Given the description of an element on the screen output the (x, y) to click on. 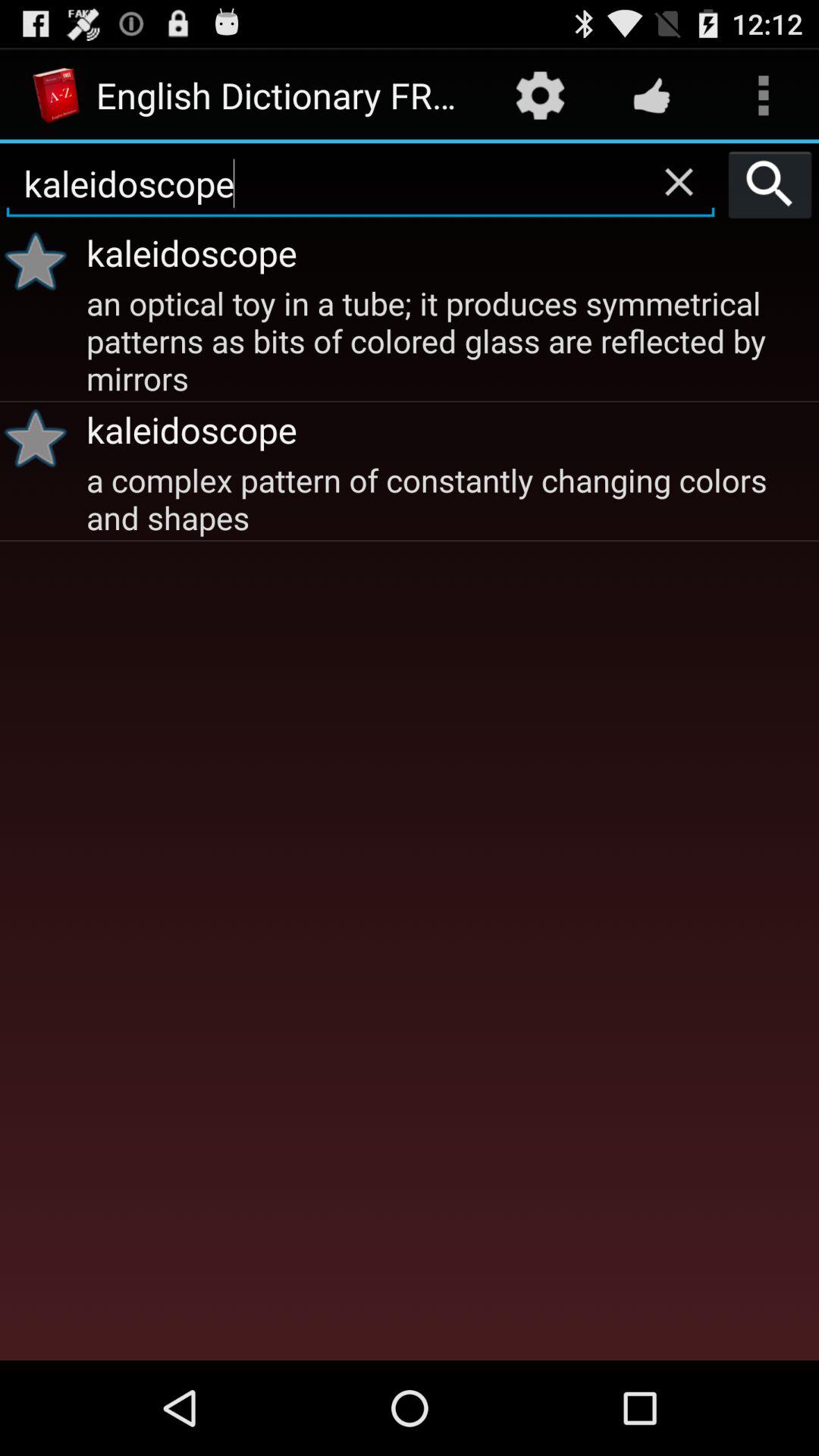
launch the icon above kaleidoscope item (651, 95)
